Given the description of an element on the screen output the (x, y) to click on. 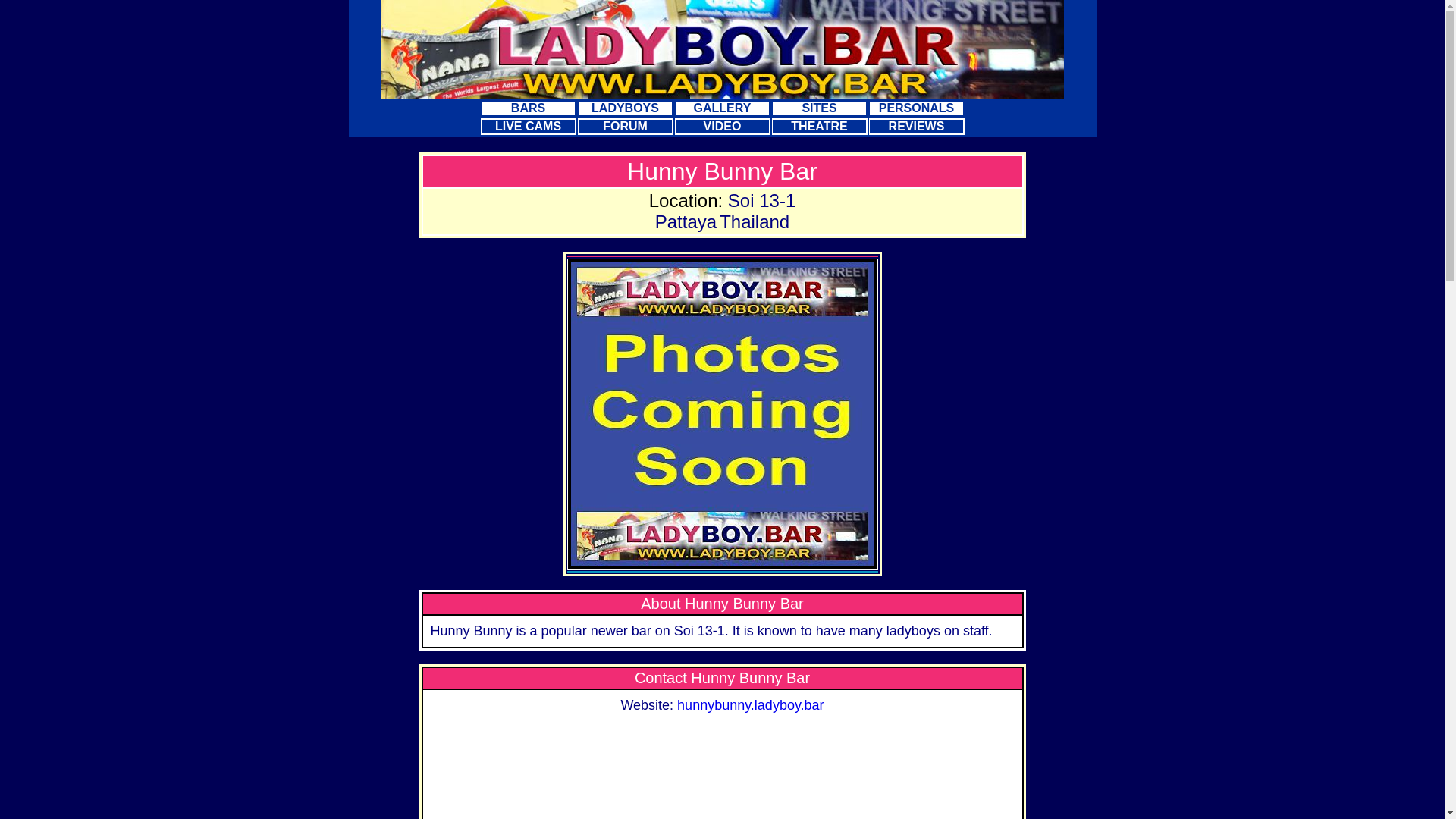
LIVE CAMS Element type: text (527, 126)
LADYBOYS Element type: text (624, 108)
FORUM Element type: text (624, 126)
BARS Element type: text (527, 108)
PERSONALS Element type: text (916, 108)
SITES Element type: text (818, 108)
REVIEWS Element type: text (916, 126)
VIDEO Element type: text (721, 126)
hunnybunny.ladyboy.bar Element type: text (750, 704)
THEATRE Element type: text (818, 126)
GALLERY Element type: text (721, 108)
